Given the description of an element on the screen output the (x, y) to click on. 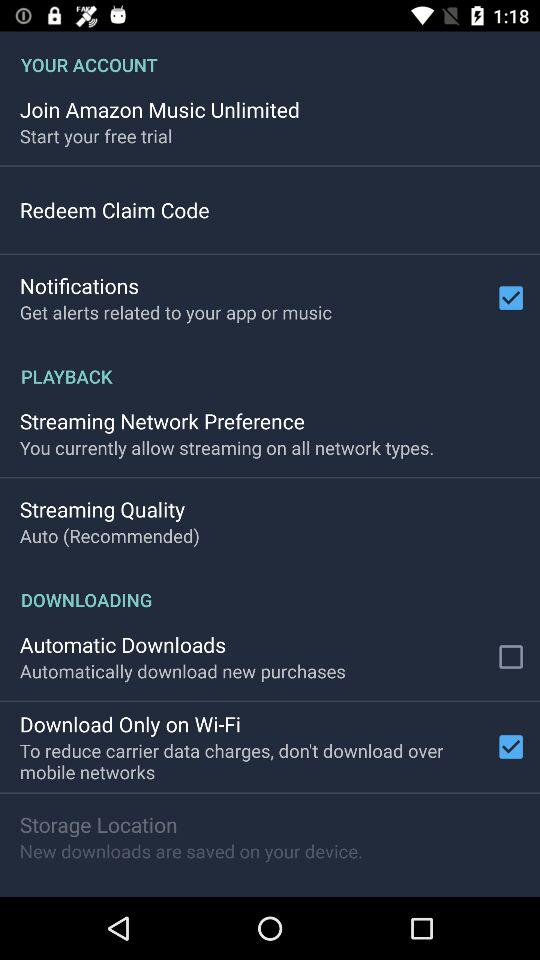
swipe to the downloading item (270, 589)
